Given the description of an element on the screen output the (x, y) to click on. 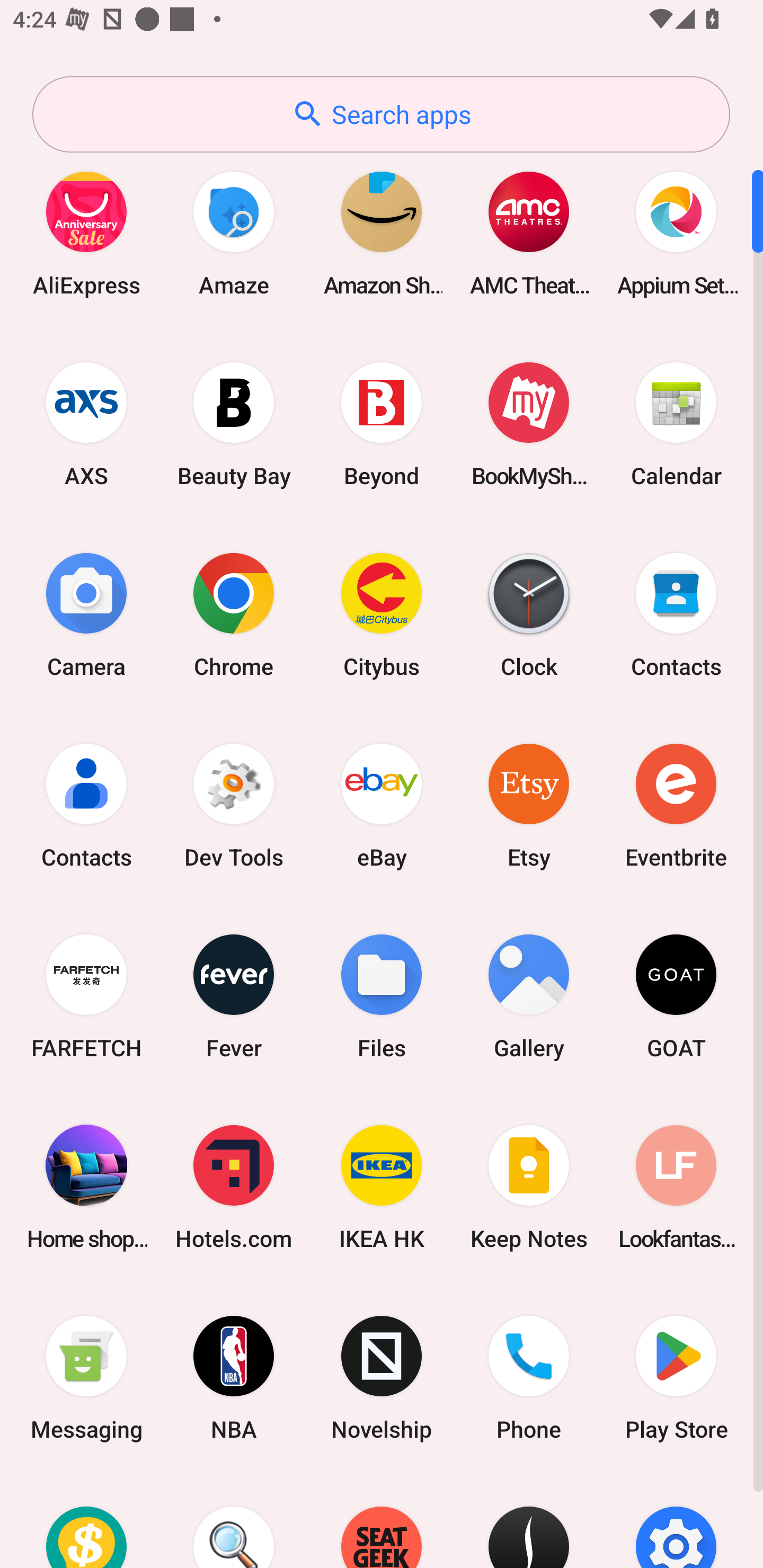
  Search apps (381, 114)
AliExpress (86, 233)
Amaze (233, 233)
Amazon Shopping (381, 233)
AMC Theatres (528, 233)
Appium Settings (676, 233)
AXS (86, 424)
Beauty Bay (233, 424)
Beyond (381, 424)
BookMyShow (528, 424)
Calendar (676, 424)
Camera (86, 614)
Chrome (233, 614)
Citybus (381, 614)
Clock (528, 614)
Contacts (676, 614)
Contacts (86, 805)
Dev Tools (233, 805)
eBay (381, 805)
Etsy (528, 805)
Eventbrite (676, 805)
FARFETCH (86, 996)
Fever (233, 996)
Files (381, 996)
Gallery (528, 996)
GOAT (676, 996)
Home shopping (86, 1186)
Hotels.com (233, 1186)
IKEA HK (381, 1186)
Keep Notes (528, 1186)
Lookfantastic (676, 1186)
Messaging (86, 1377)
NBA (233, 1377)
Novelship (381, 1377)
Phone (528, 1377)
Play Store (676, 1377)
Price (86, 1520)
Search (233, 1520)
SeatGeek (381, 1520)
Sephora (528, 1520)
Settings (676, 1520)
